Given the description of an element on the screen output the (x, y) to click on. 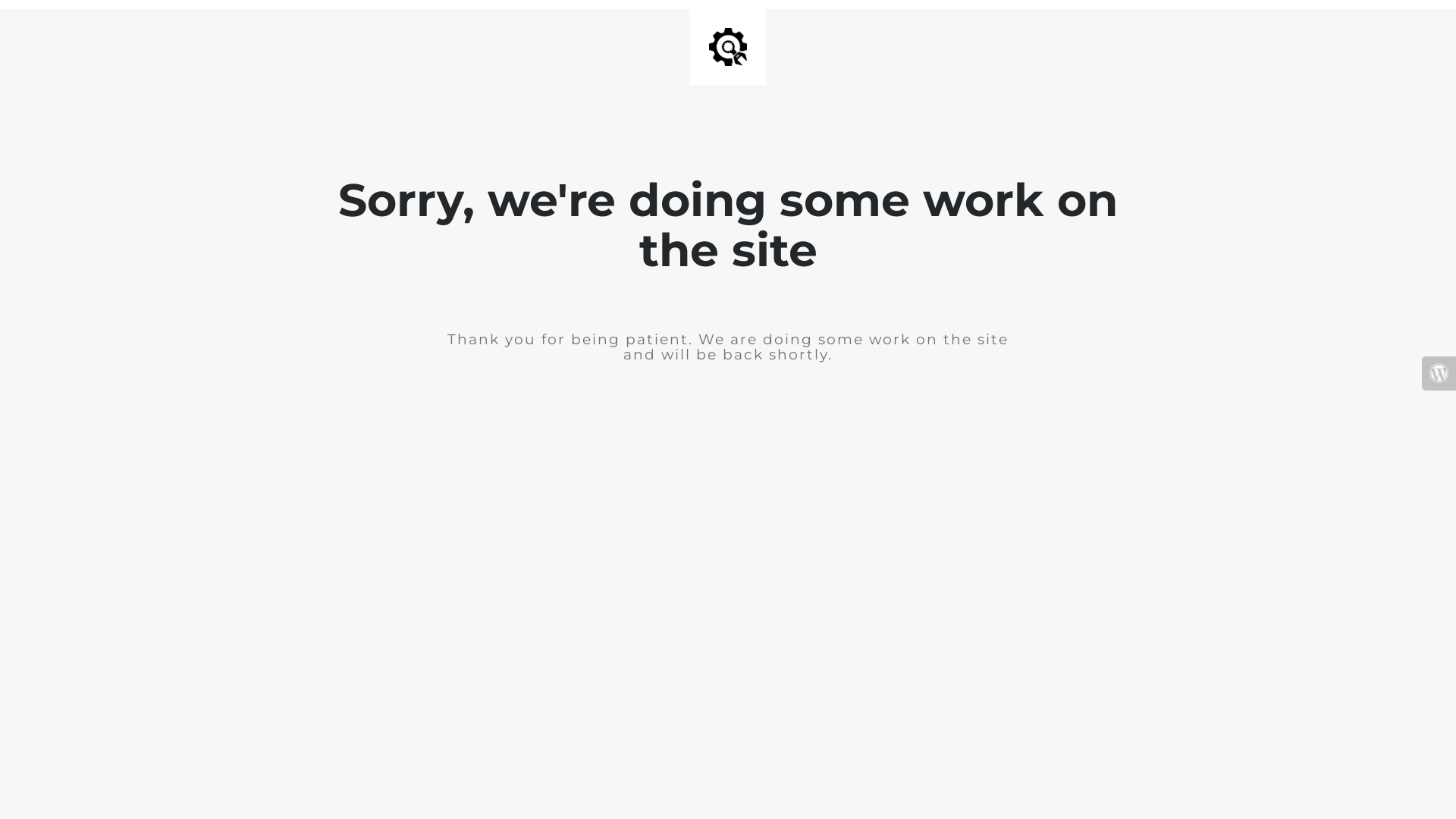
Site is Under Construction Element type: hover (727, 46)
